Given the description of an element on the screen output the (x, y) to click on. 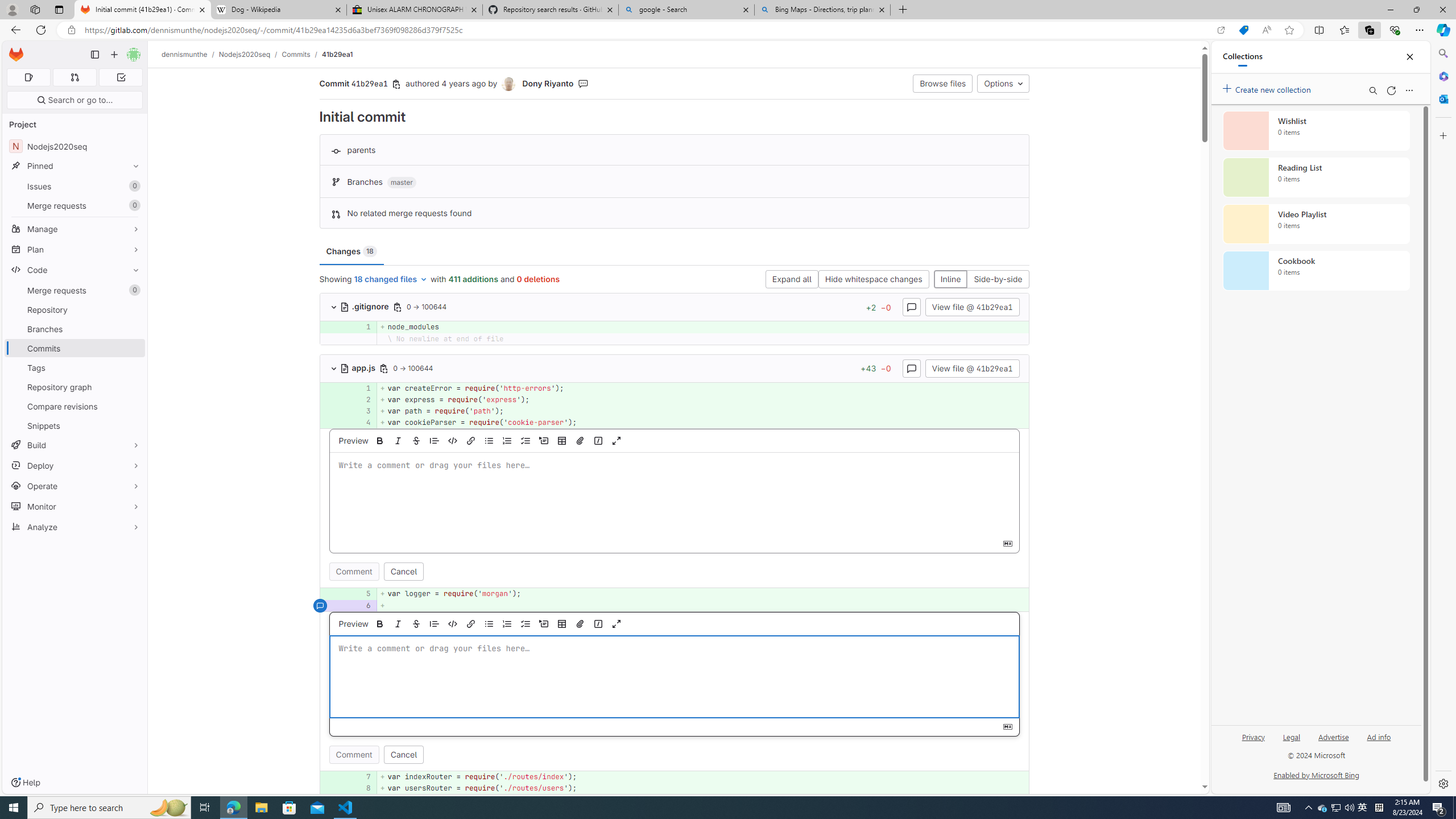
Pin Commits (132, 348)
Add a collapsible section (543, 623)
18 changed files (390, 279)
Cancel (402, 754)
Assigned issues 0 (28, 76)
Merge requests 0 (74, 289)
Issues 0 (74, 185)
master (401, 182)
+ var usersRouter = require('./routes/users');  (703, 788)
Issues0 (74, 185)
+ var path = require('path');  (703, 410)
Pin Snippets (132, 425)
dennismunthe/ (189, 53)
Expand all (791, 279)
